Given the description of an element on the screen output the (x, y) to click on. 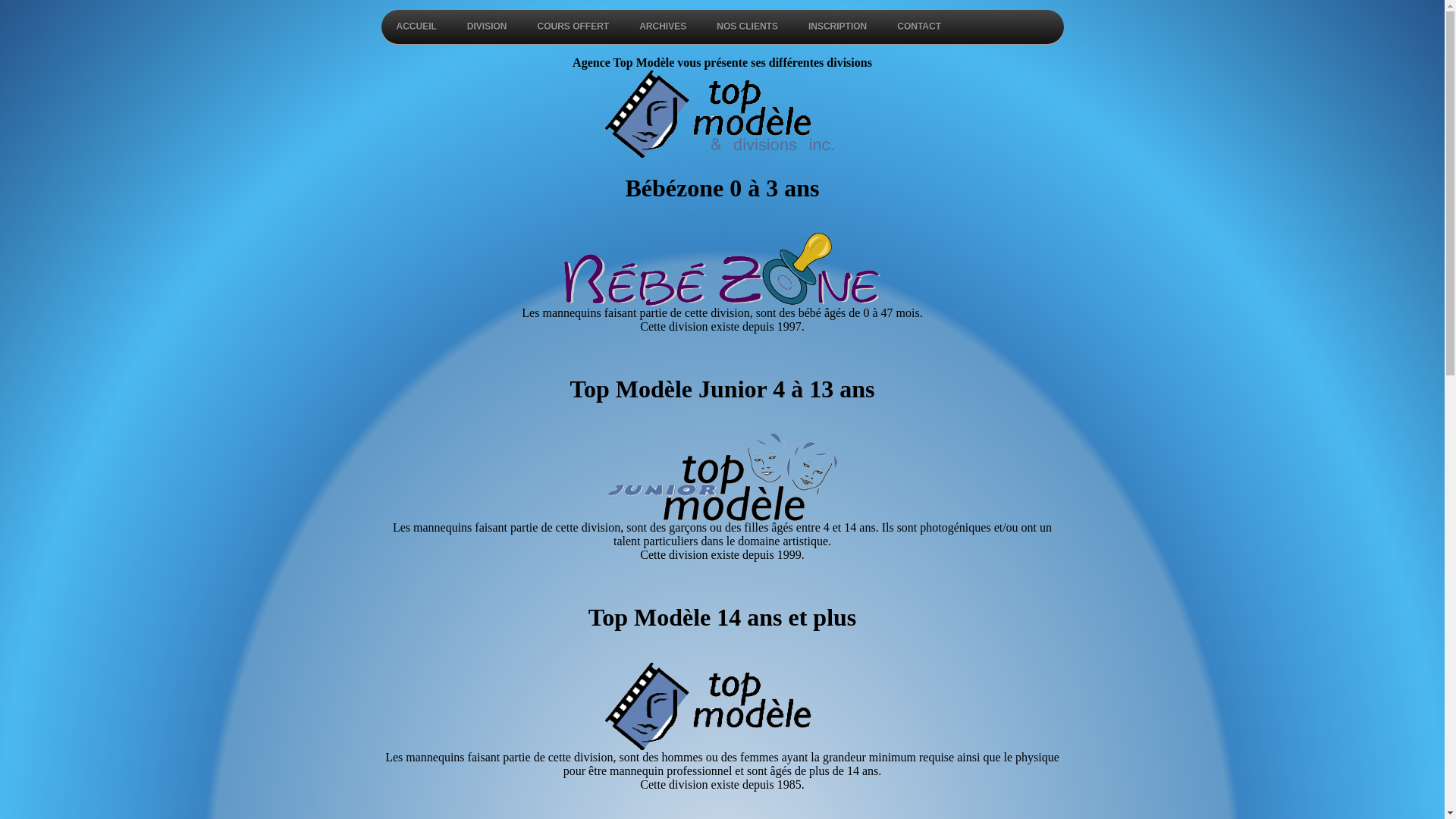
CONTACT Element type: text (918, 26)
INSCRIPTION Element type: text (837, 26)
COURS OFFERT Element type: text (573, 26)
NOS CLIENTS Element type: text (747, 26)
ACCUEIL Element type: text (415, 26)
ARCHIVES Element type: text (662, 26)
DIVISION Element type: text (486, 26)
